Given the description of an element on the screen output the (x, y) to click on. 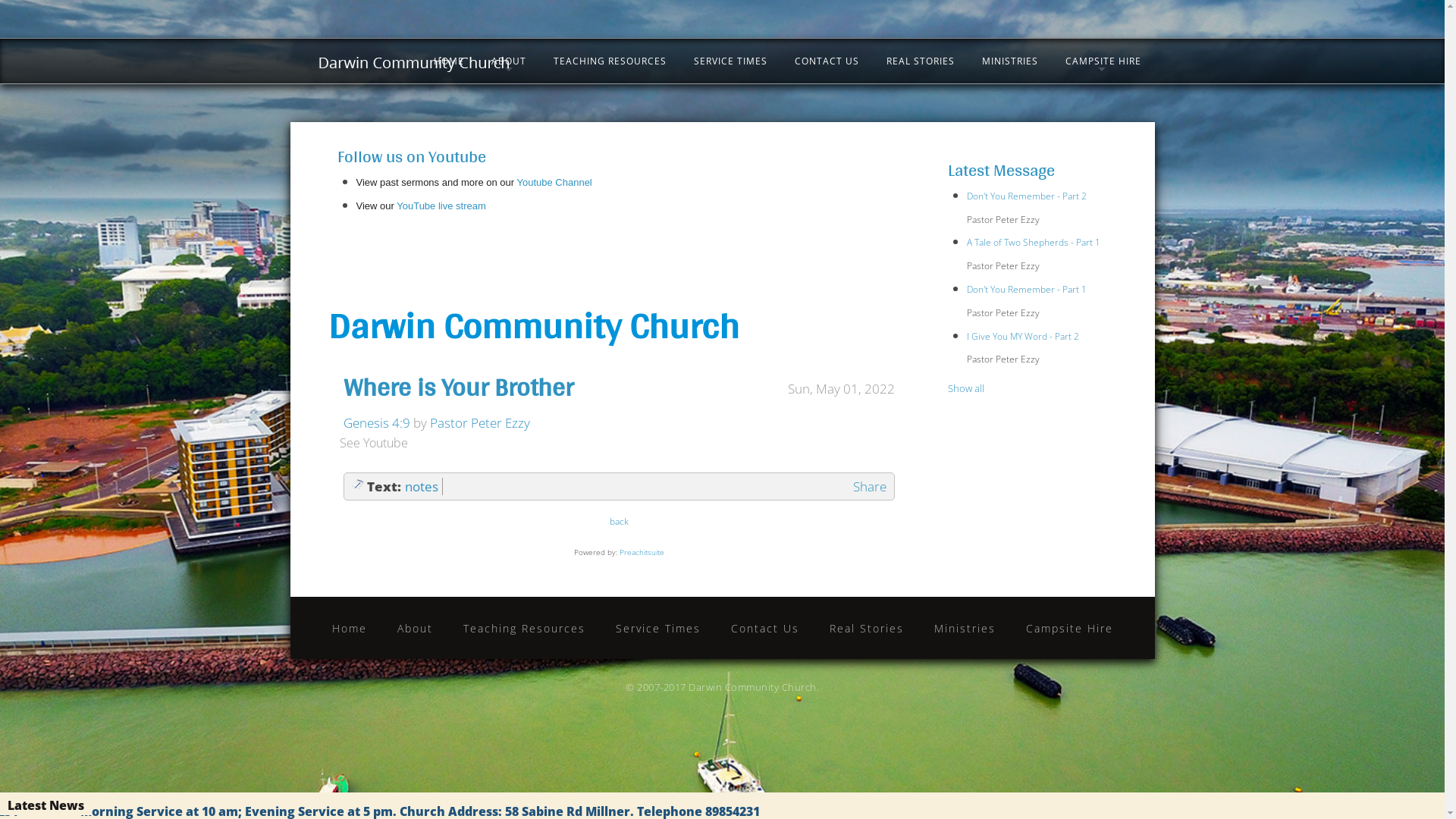
Don't You Remember - Part 1 Element type: text (1026, 288)
Home Element type: text (349, 627)
Where is Your Brother Element type: text (457, 386)
back Element type: text (618, 520)
Ministries Element type: text (964, 627)
CAMPSITE HIRE Element type: text (1102, 60)
Teaching Resources Element type: text (523, 627)
Genesis 4:9 Element type: text (375, 422)
YouTube live stream Element type: text (441, 205)
TEACHING RESOURCES Element type: text (609, 60)
MINISTRIES Element type: text (1009, 60)
I Give You MY Word - Part 2 Element type: text (1022, 335)
Preachitsuite Element type: text (641, 551)
ABOUT Element type: text (508, 60)
HOME Element type: text (448, 60)
Real Stories Element type: text (866, 627)
Share Element type: text (869, 486)
Don't You Remember - Part 2 Element type: text (1026, 195)
Show all Element type: text (965, 388)
notes Element type: text (421, 486)
Pastor Peter Ezzy Element type: text (479, 422)
About Element type: text (415, 627)
Contact Us Element type: text (764, 627)
CONTACT US Element type: text (826, 60)
SERVICE TIMES Element type: text (729, 60)
Service Times Element type: text (657, 627)
A Tale of Two Shepherds - Part 1 Element type: text (1033, 241)
Campsite Hire Element type: text (1068, 627)
Youtube Channel Element type: text (553, 182)
REAL STORIES Element type: text (919, 60)
